Given the description of an element on the screen output the (x, y) to click on. 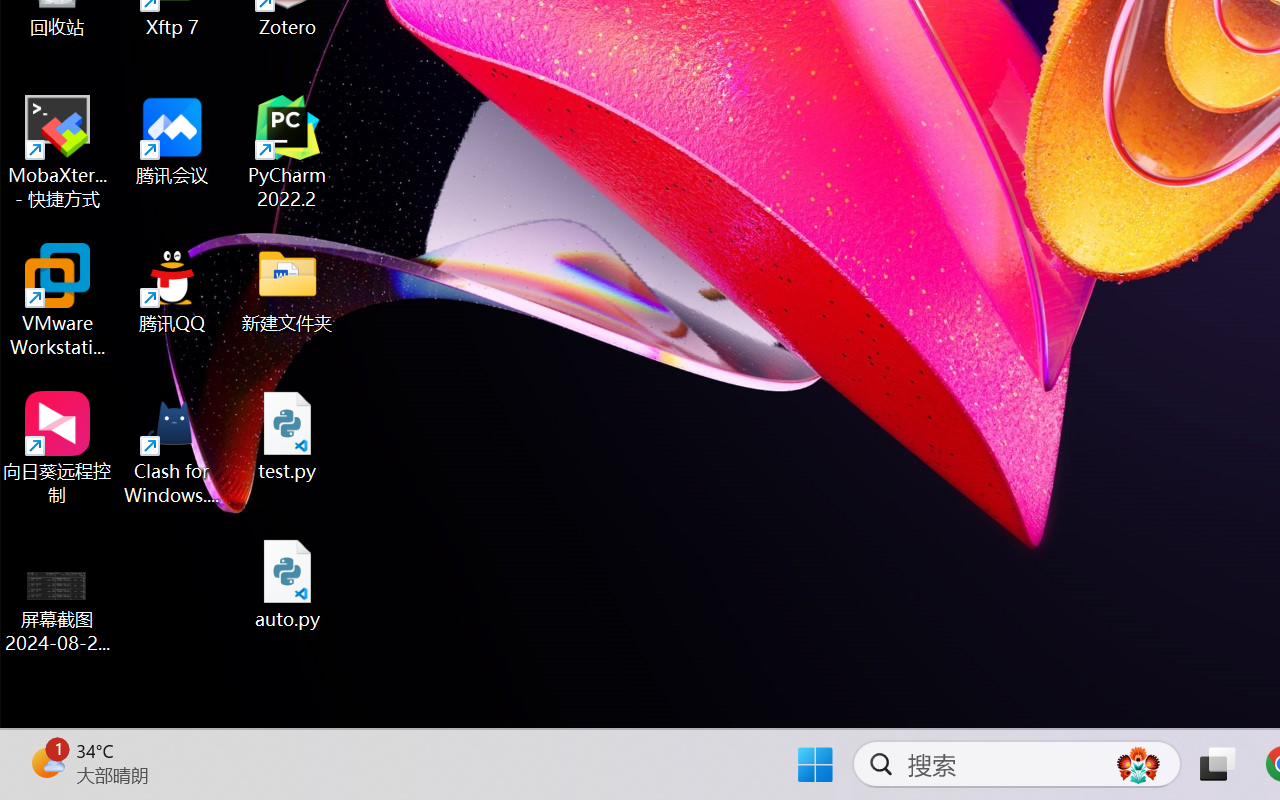
PyCharm 2022.2 (287, 152)
VMware Workstation Pro (57, 300)
test.py (287, 436)
